Given the description of an element on the screen output the (x, y) to click on. 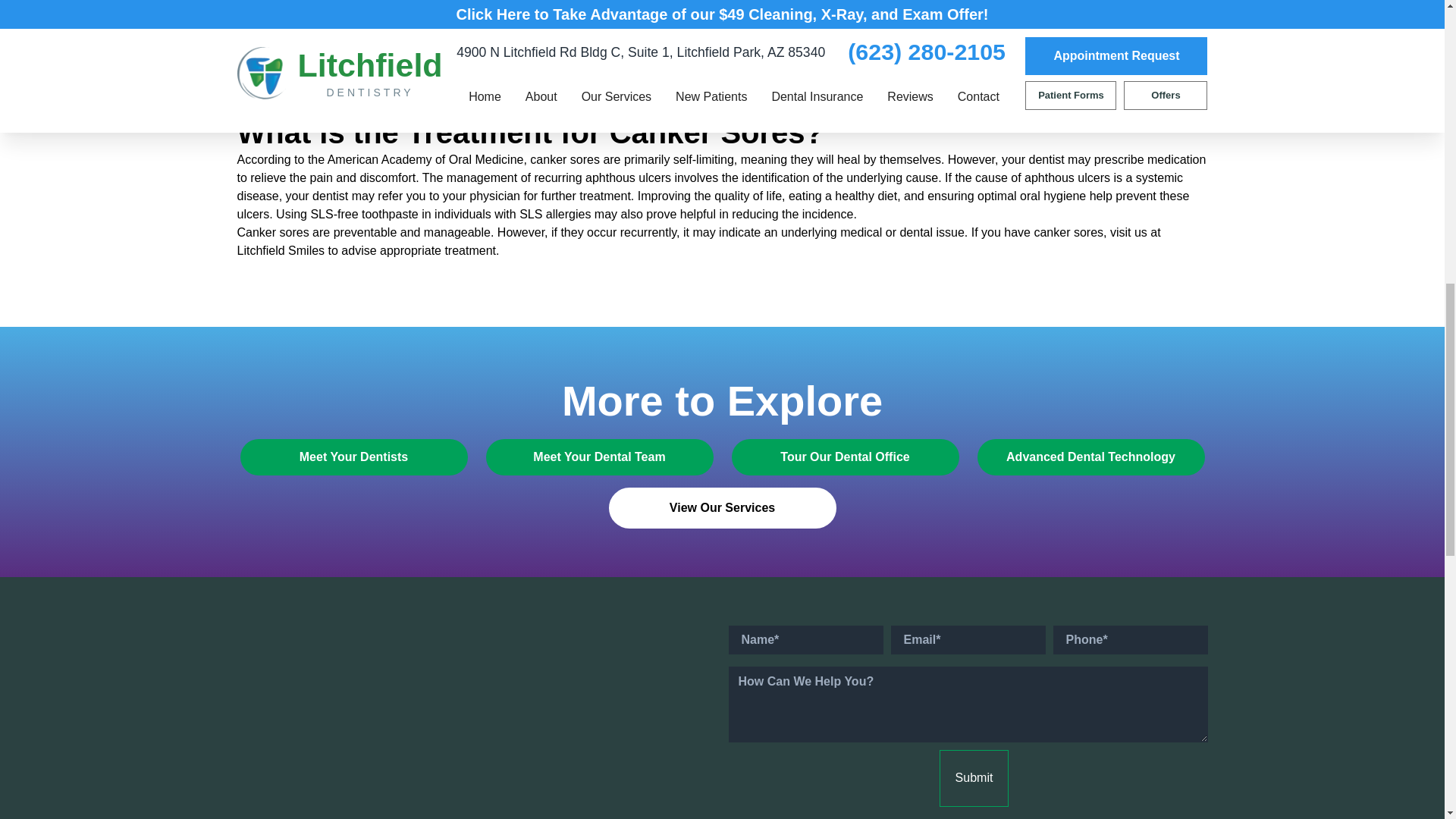
Submit (974, 778)
